Given the description of an element on the screen output the (x, y) to click on. 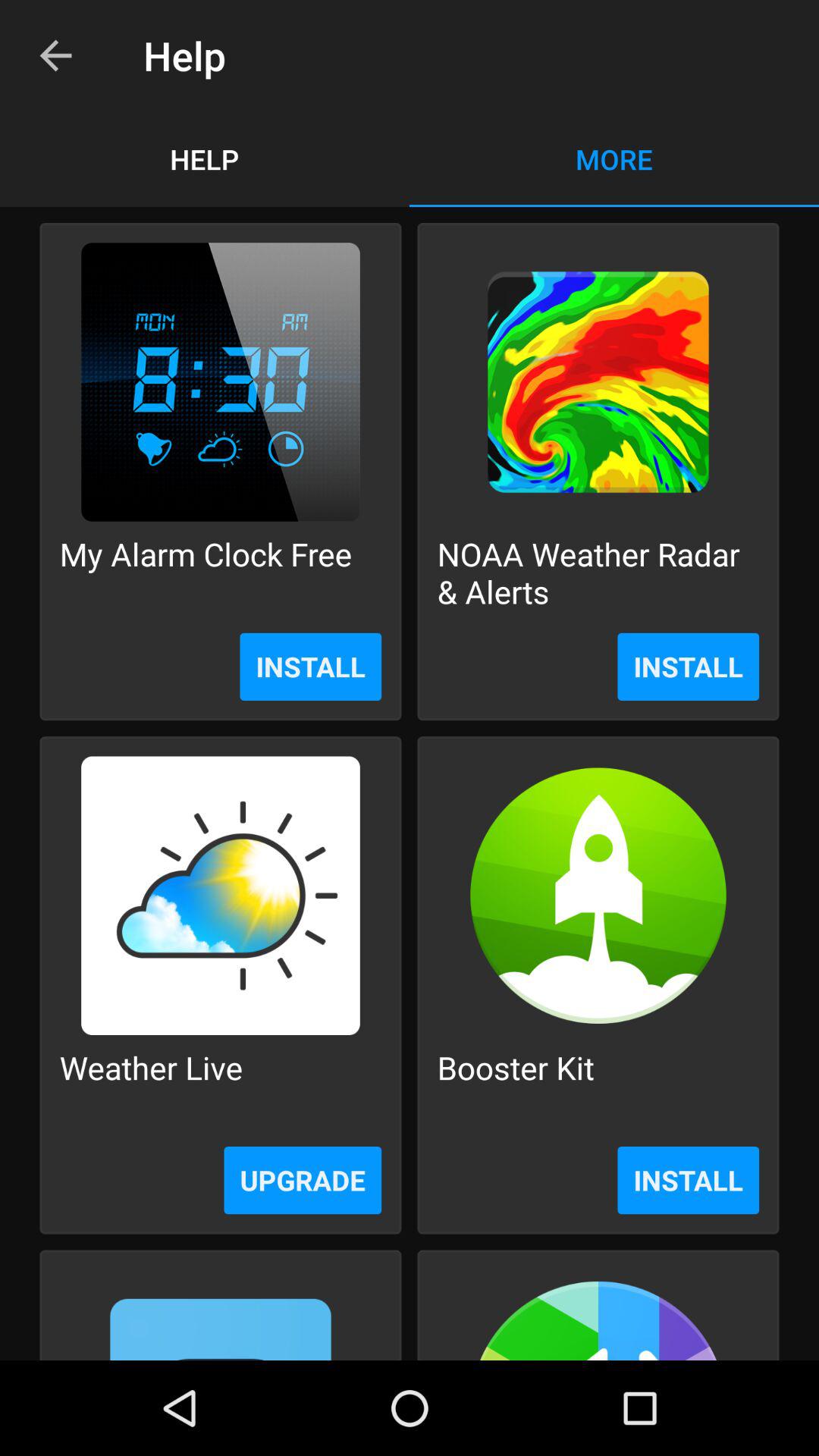
launch icon next to the help (55, 55)
